Given the description of an element on the screen output the (x, y) to click on. 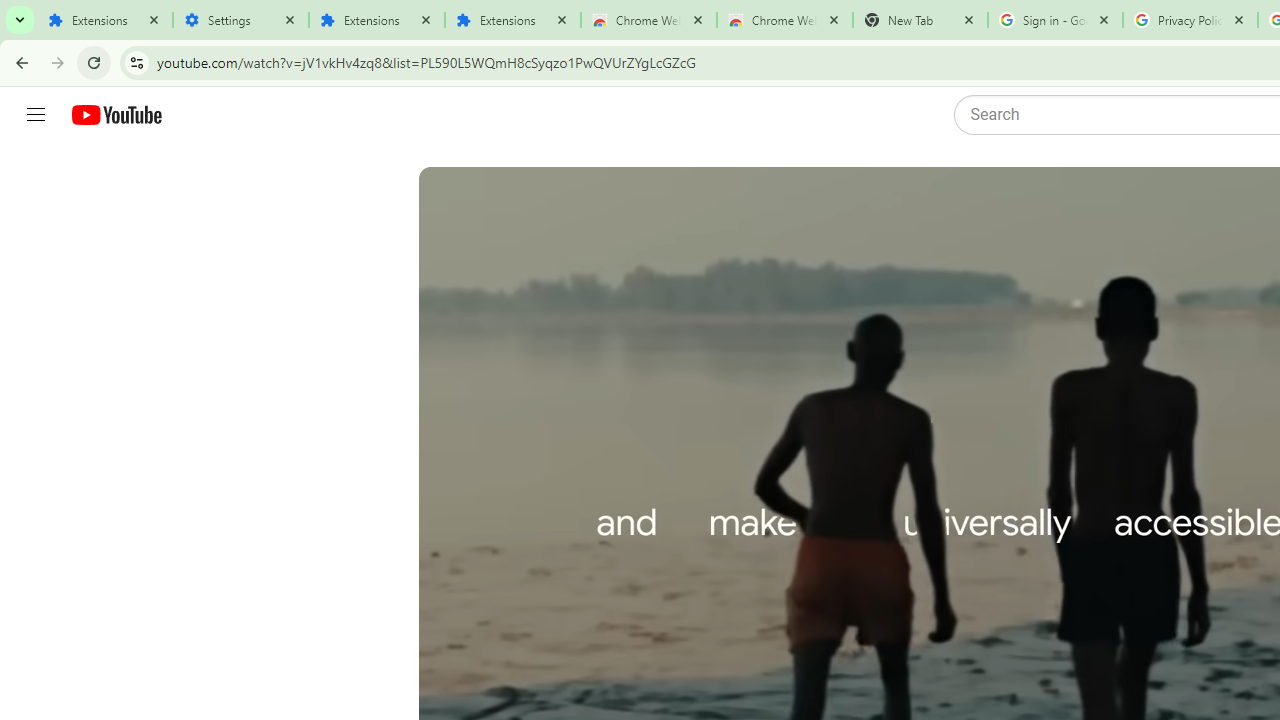
YouTube Home (116, 115)
